Given the description of an element on the screen output the (x, y) to click on. 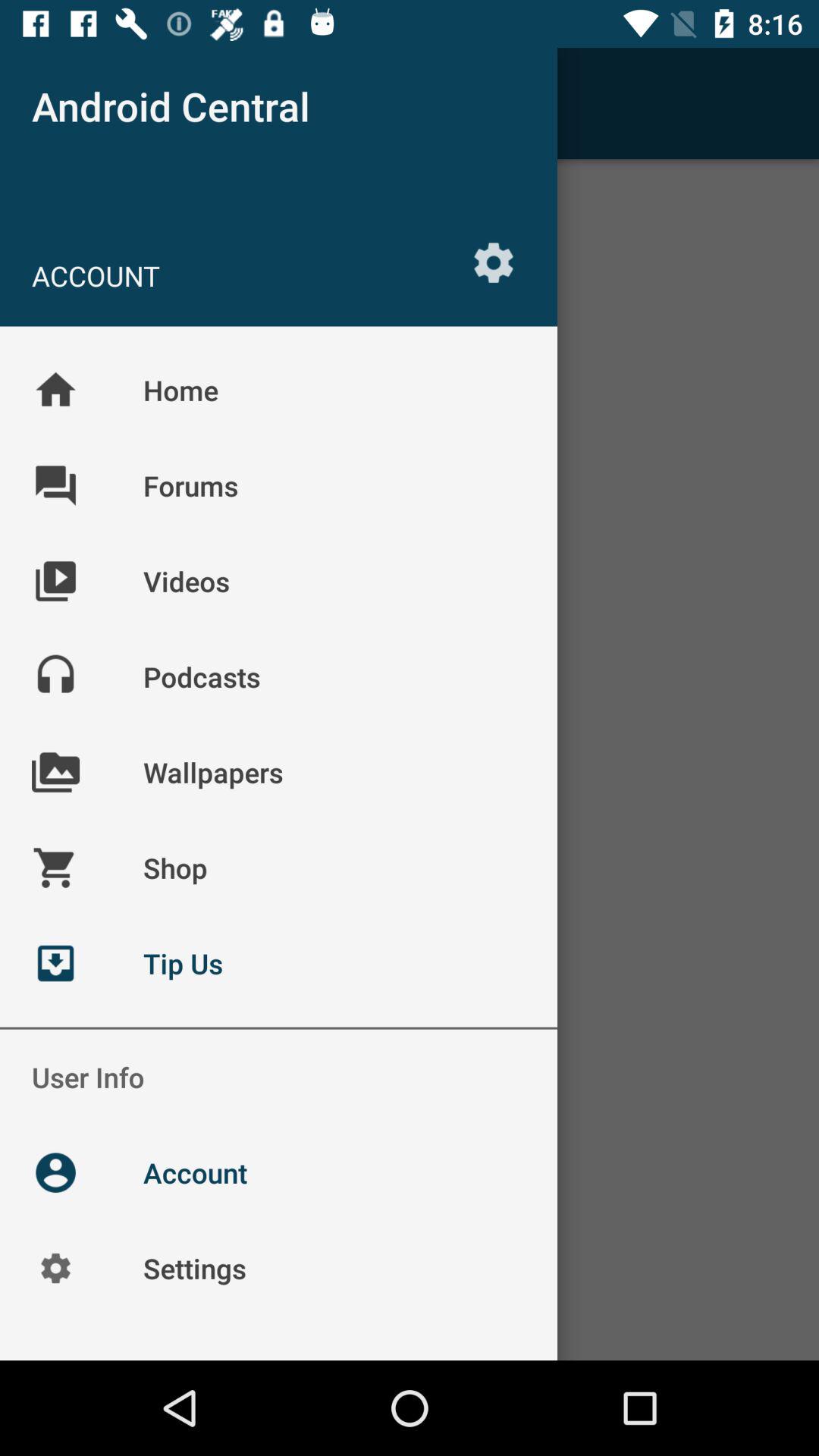
launch icon to the left of account icon (55, 103)
